Given the description of an element on the screen output the (x, y) to click on. 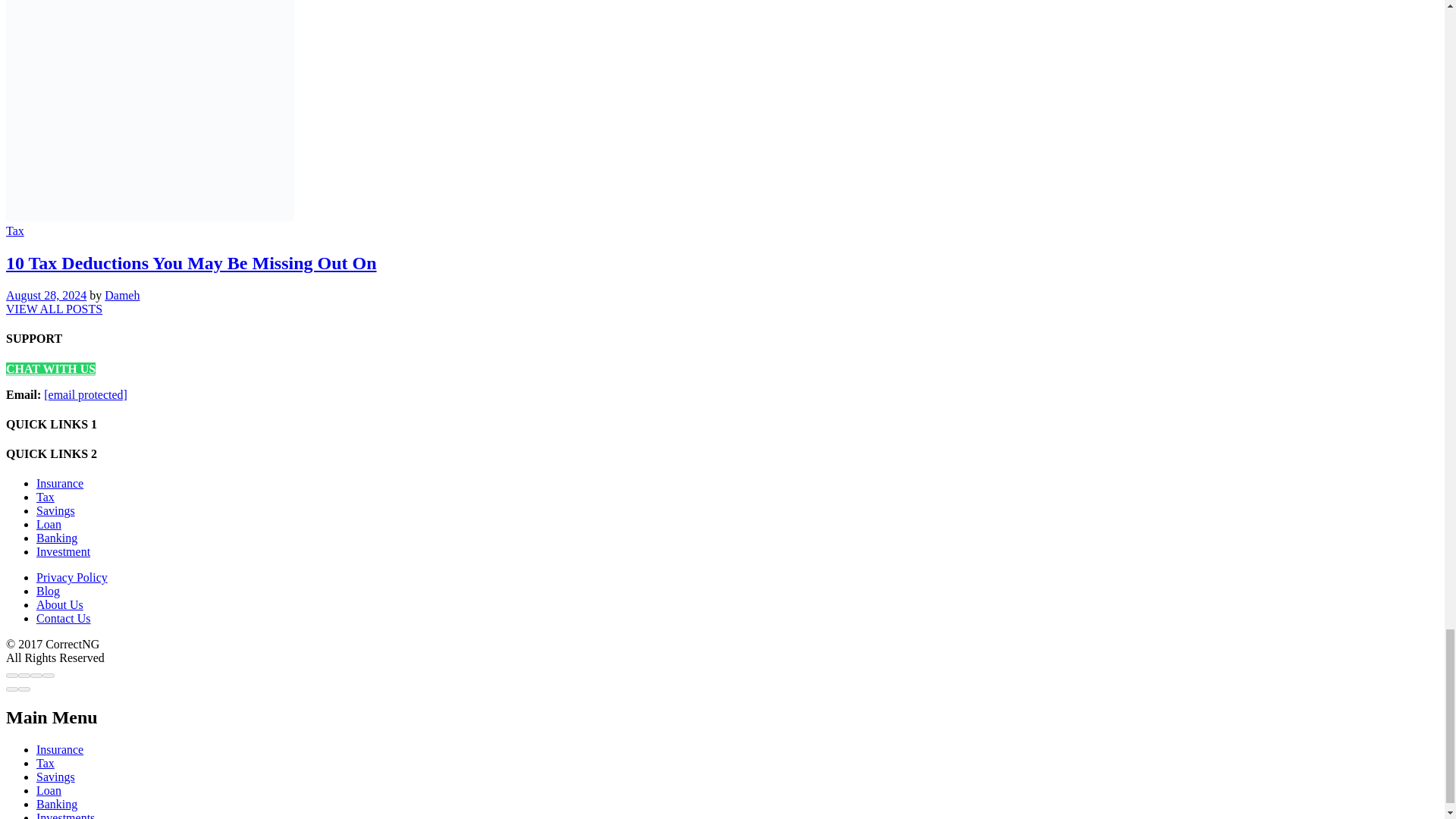
CHAT US ON WHATSAPP (50, 368)
Share (23, 675)
Toggle fullscreen (36, 675)
